Given the description of an element on the screen output the (x, y) to click on. 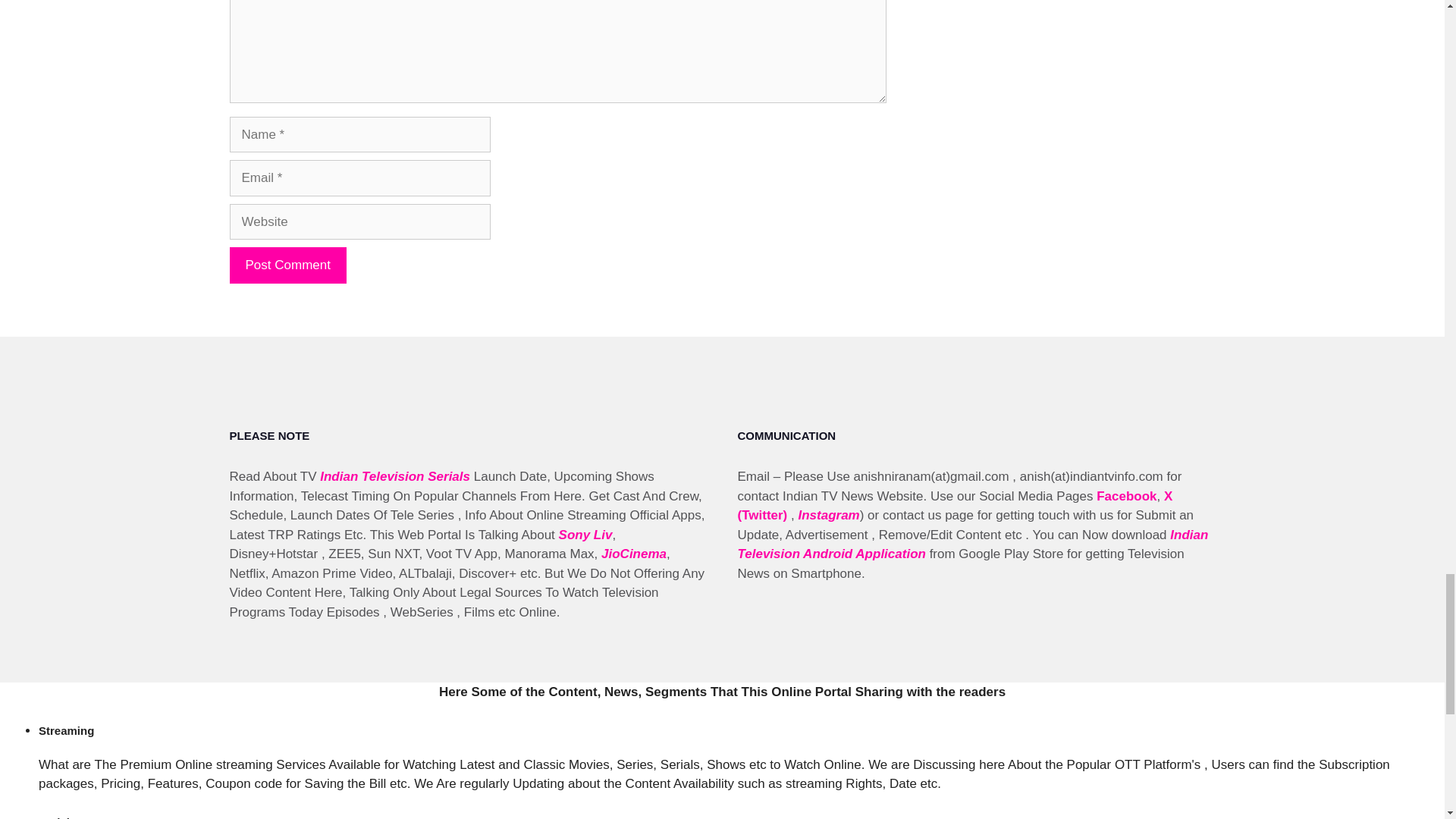
Post Comment (287, 265)
